Given the description of an element on the screen output the (x, y) to click on. 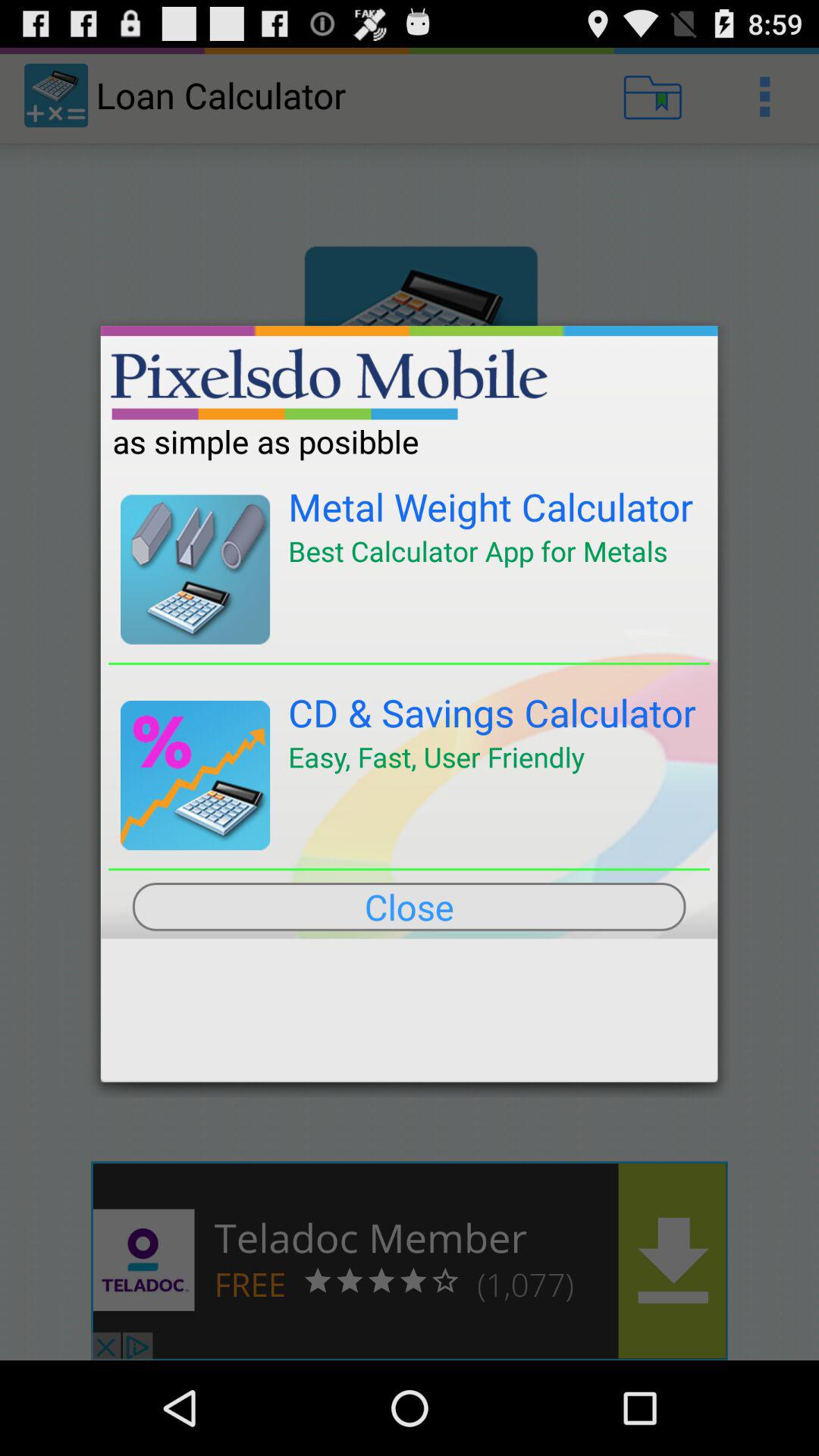
scroll to metal weight calculator (490, 506)
